Given the description of an element on the screen output the (x, y) to click on. 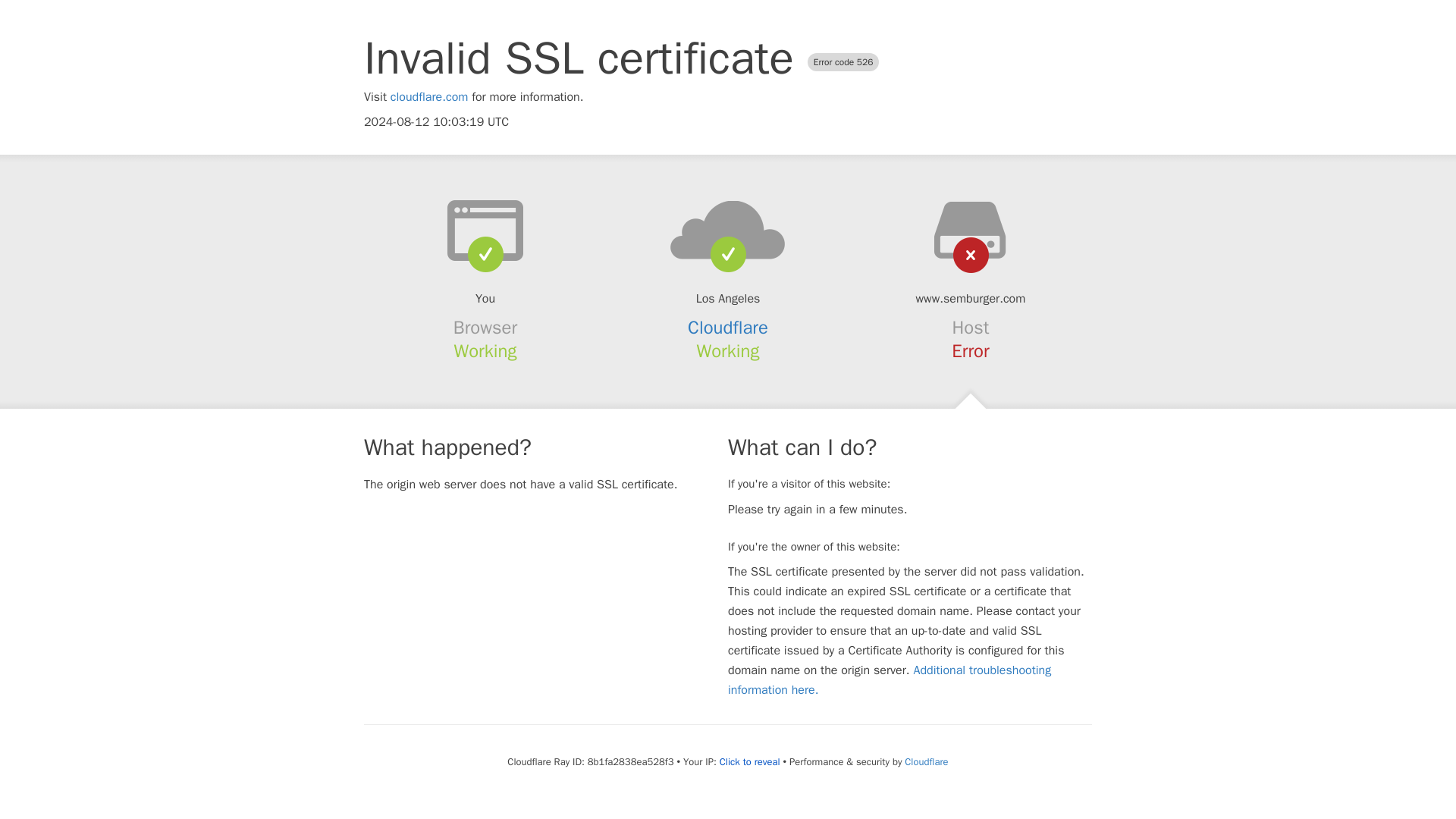
Cloudflare (727, 327)
Click to reveal (749, 762)
cloudflare.com (429, 96)
Cloudflare (925, 761)
Additional troubleshooting information here. (889, 679)
